Given the description of an element on the screen output the (x, y) to click on. 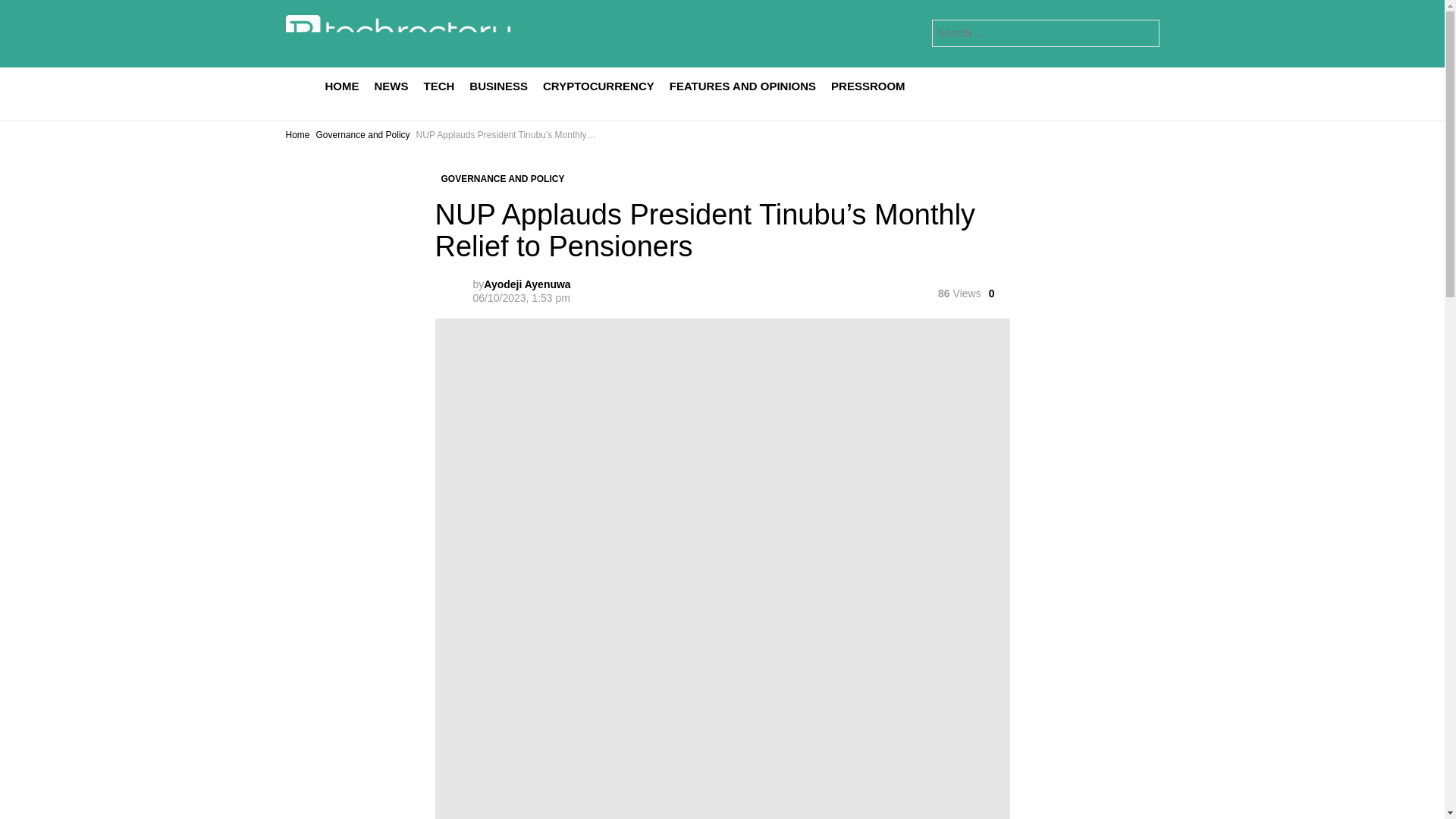
PRESSROOM (868, 86)
BUSINESS (498, 86)
NEWS (391, 86)
TECH (437, 86)
SEARCH (1143, 32)
Search for: (1044, 32)
FEATURES AND OPINIONS (743, 86)
HOME (341, 86)
Home (296, 134)
CRYPTOCURRENCY (598, 86)
